Given the description of an element on the screen output the (x, y) to click on. 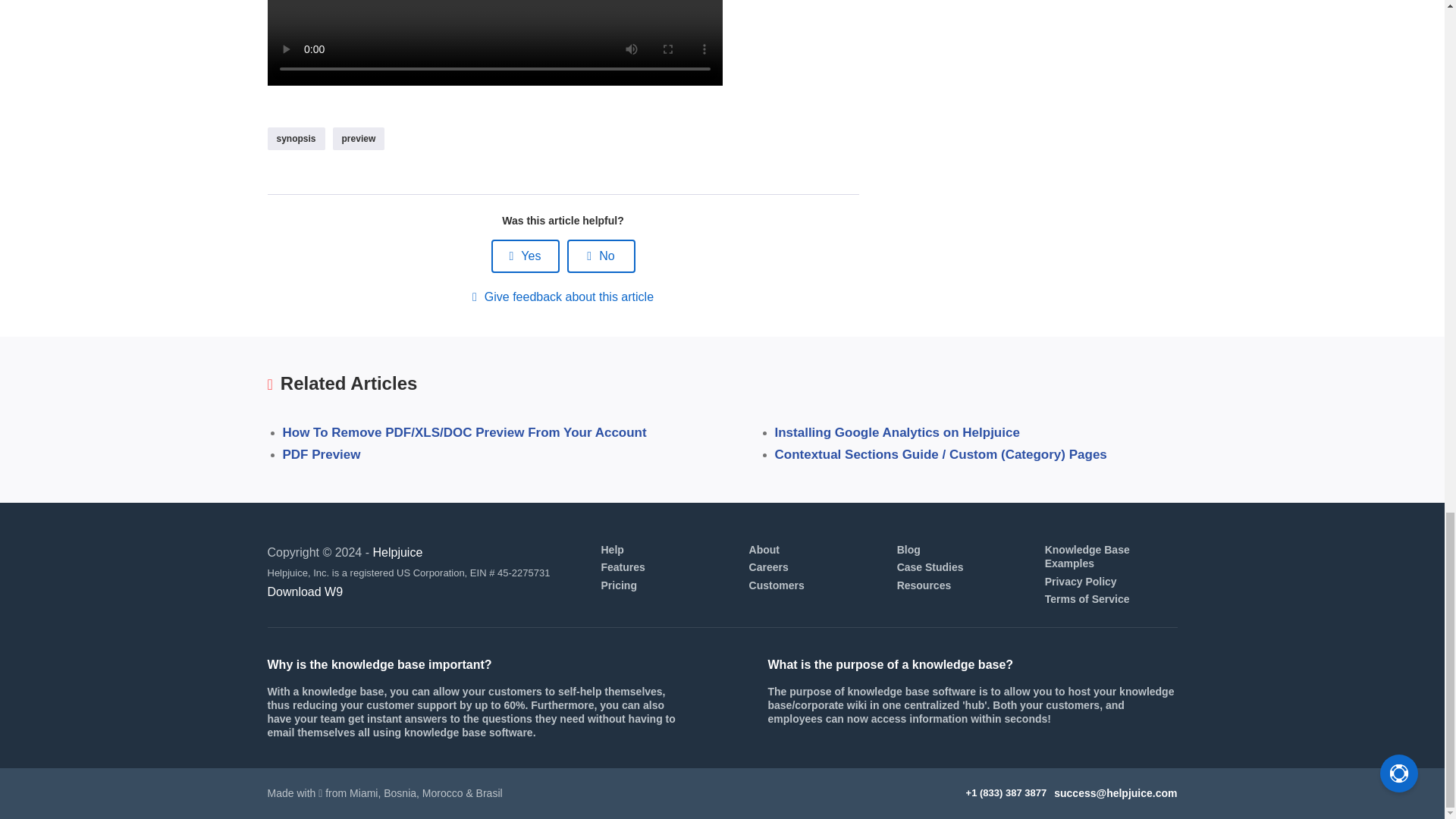
Yes (525, 255)
No (600, 255)
preview (359, 138)
synopsis (295, 138)
